Given the description of an element on the screen output the (x, y) to click on. 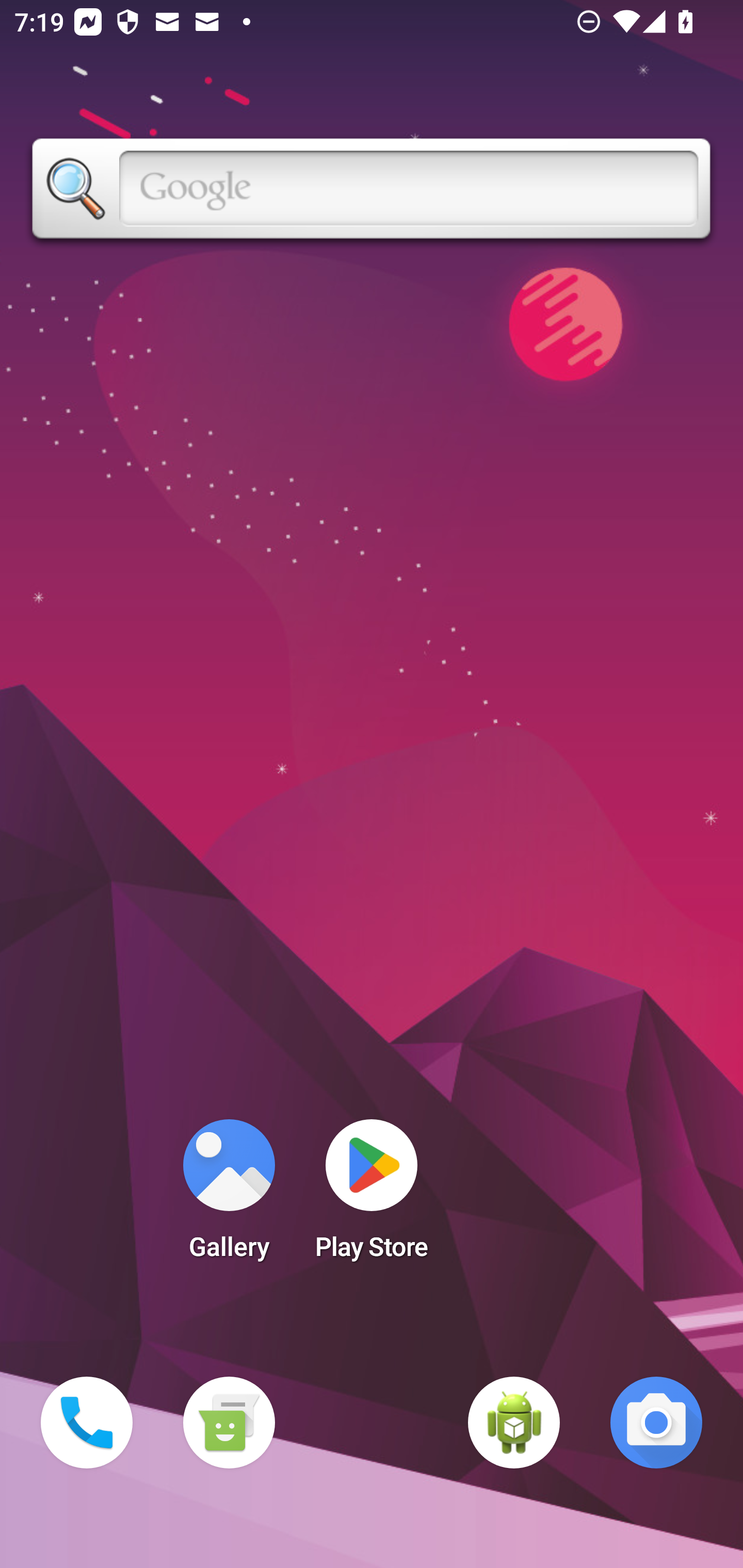
Gallery (228, 1195)
Play Store (371, 1195)
Phone (86, 1422)
Messaging (228, 1422)
WebView Browser Tester (513, 1422)
Camera (656, 1422)
